Given the description of an element on the screen output the (x, y) to click on. 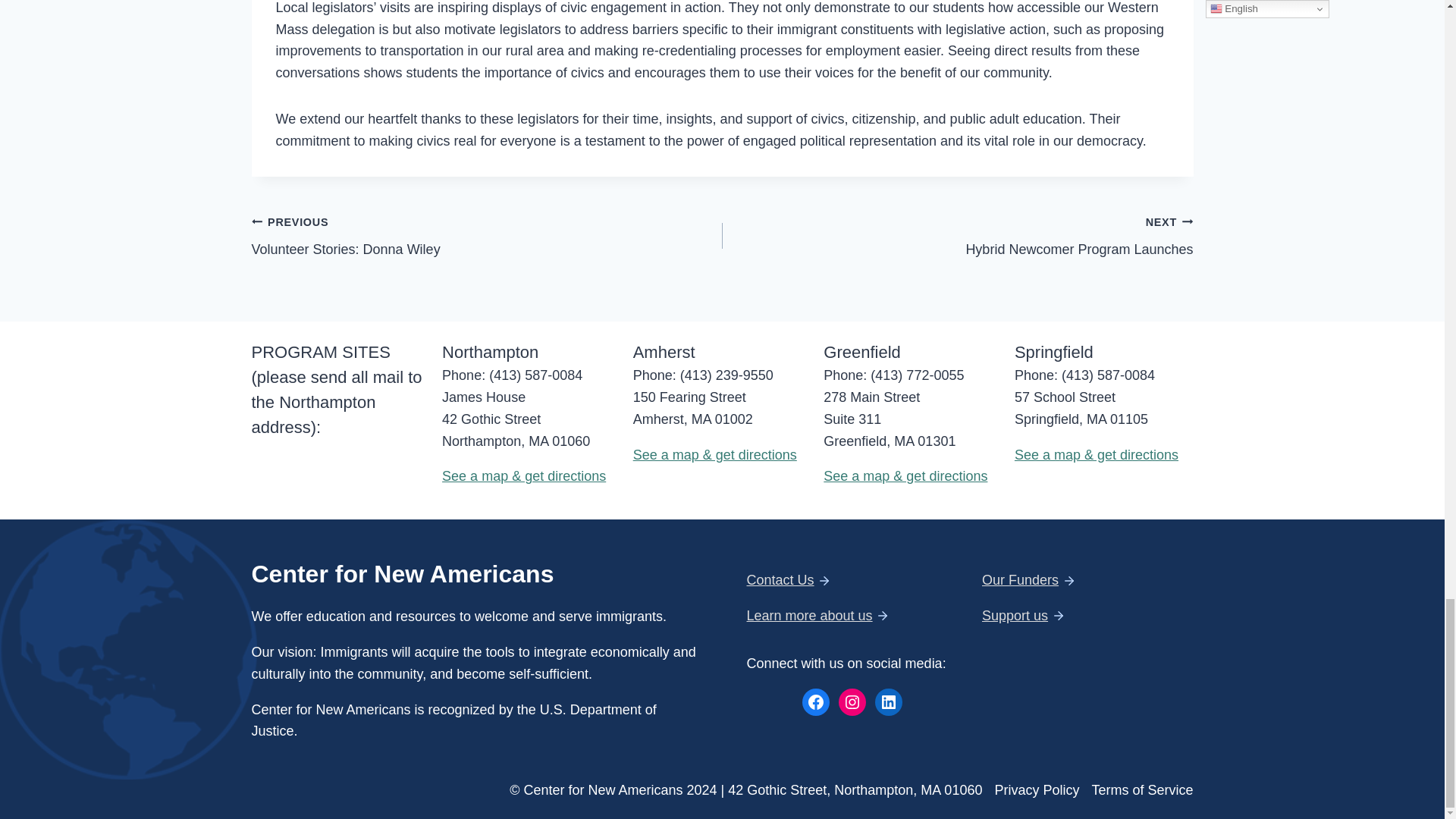
Learn more about us (808, 615)
Instagram (852, 701)
LinkedIn (957, 235)
Support us (486, 235)
Contact Us (888, 701)
Our Funders (1014, 615)
Facebook (779, 580)
